Given the description of an element on the screen output the (x, y) to click on. 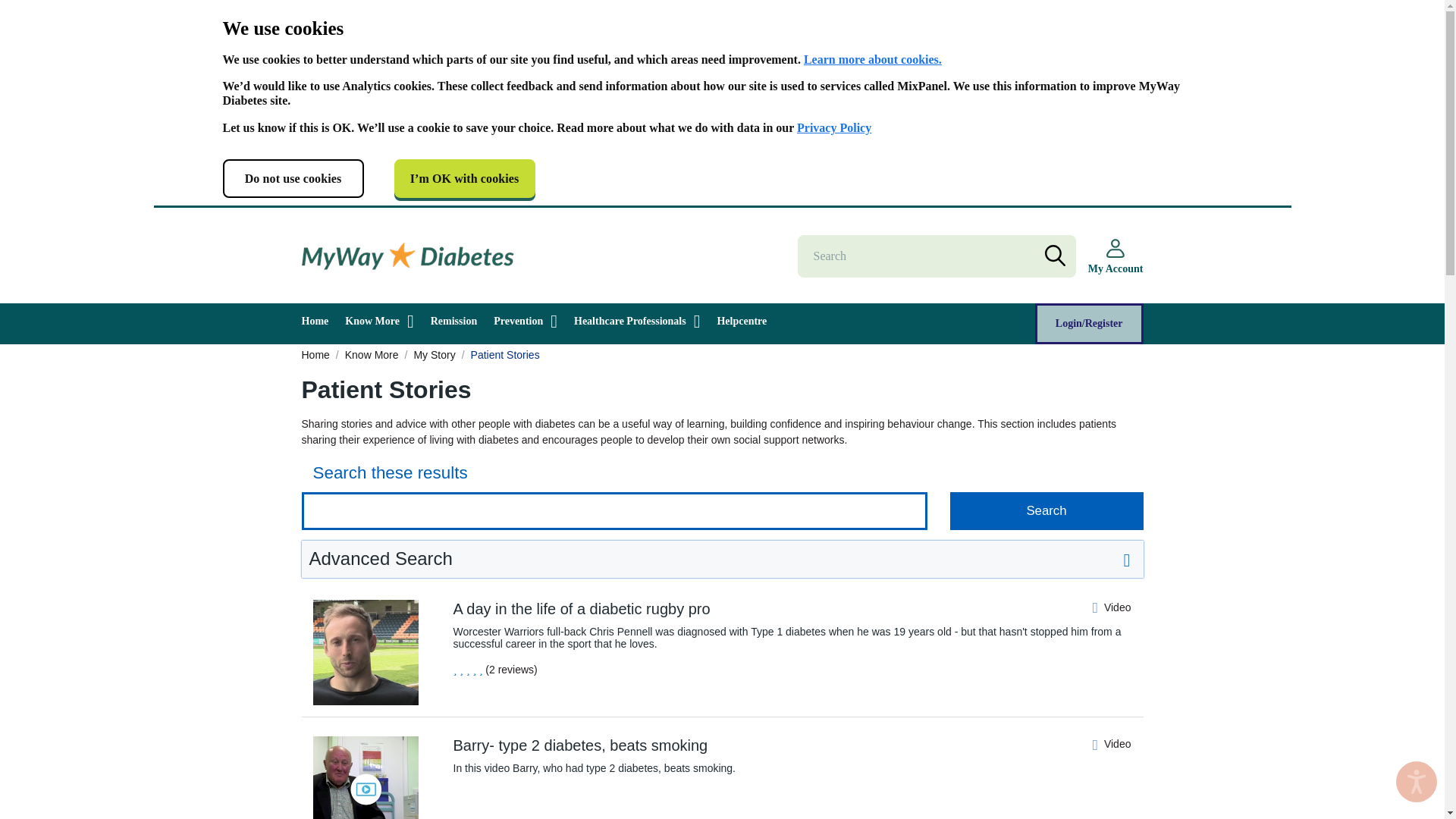
Learn more about cookies. (872, 59)
Search (1045, 510)
Listen with the ReachDeck Toolbar (1416, 781)
Search (1045, 510)
Submit search (1045, 510)
Know More (371, 321)
Read more about A day in the life of a diabetic rugby pro (733, 608)
My Account (1114, 256)
Go to the MyWay Digital Health Ltd homepage (407, 256)
Read more about Barry- type 2 diabetes, beats smoking (733, 745)
Go to Know More (371, 354)
Read more about Barry- type 2 diabetes, beats smoking (366, 788)
My Story (433, 354)
Prevention (518, 321)
Go to Home (315, 354)
